Given the description of an element on the screen output the (x, y) to click on. 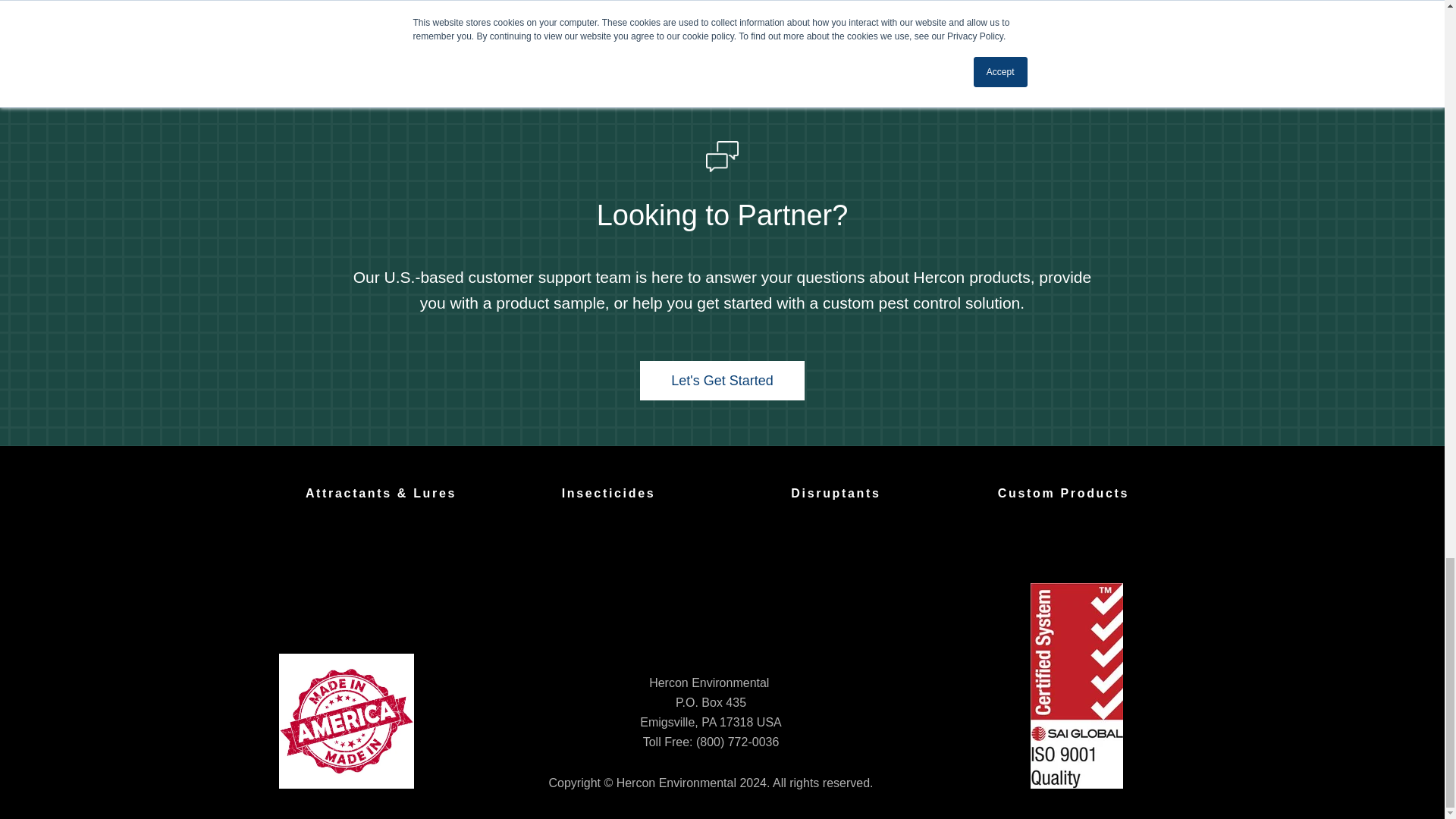
Let's Get Started (722, 380)
Let's Get Started (722, 380)
Insecticides (608, 493)
Custom Products (1063, 493)
Disruptants (836, 493)
